Given the description of an element on the screen output the (x, y) to click on. 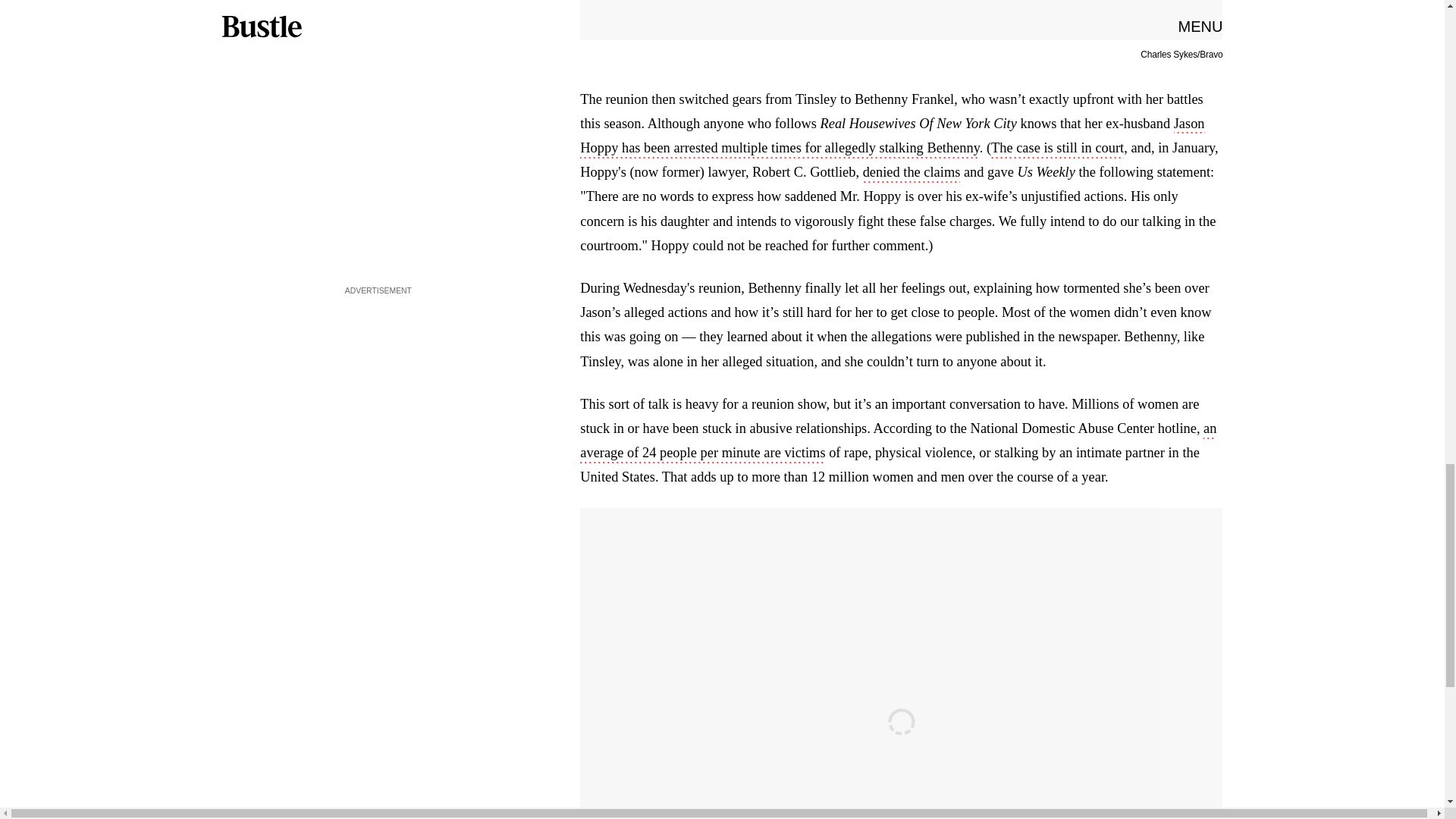
an average of 24 people per minute are victims (897, 441)
denied the claims (911, 173)
The case is still in court (1057, 149)
